Given the description of an element on the screen output the (x, y) to click on. 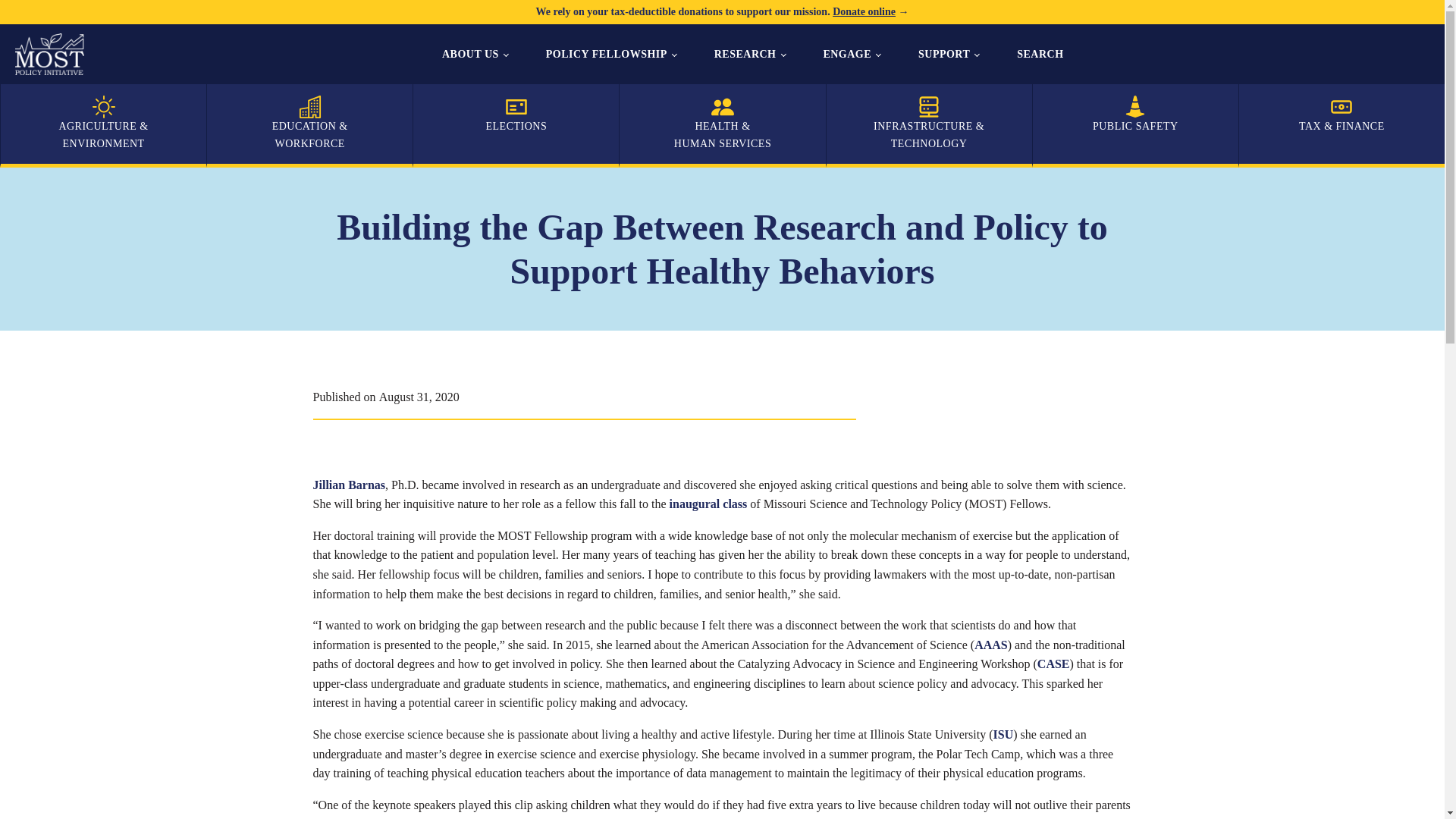
ABOUT US (474, 54)
POLICY FELLOWSHIP (610, 54)
SUPPORT (948, 54)
RESEARCH (749, 54)
SEARCH (1040, 54)
ENGAGE (850, 54)
